Given the description of an element on the screen output the (x, y) to click on. 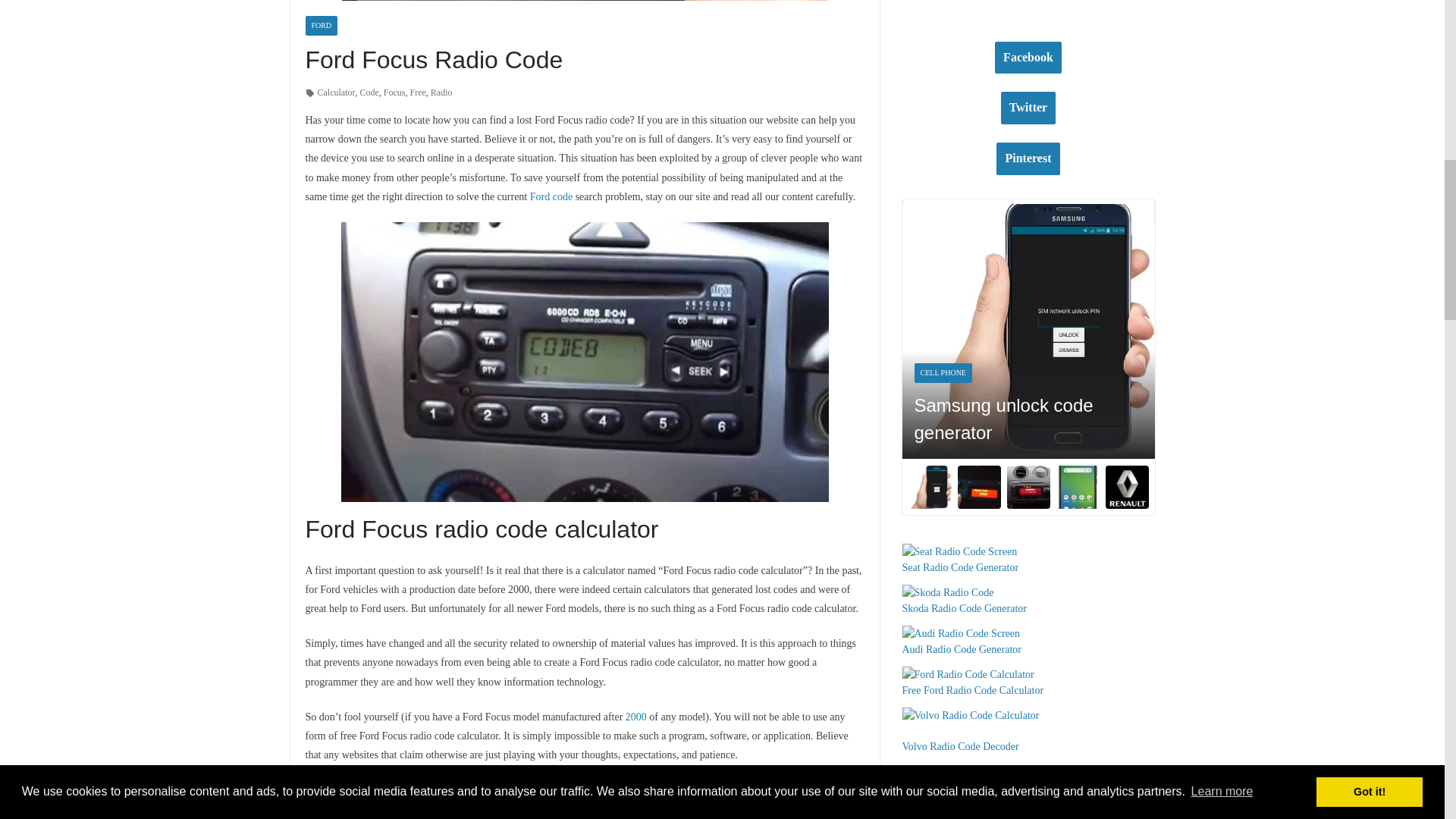
FORD (320, 25)
